Given the description of an element on the screen output the (x, y) to click on. 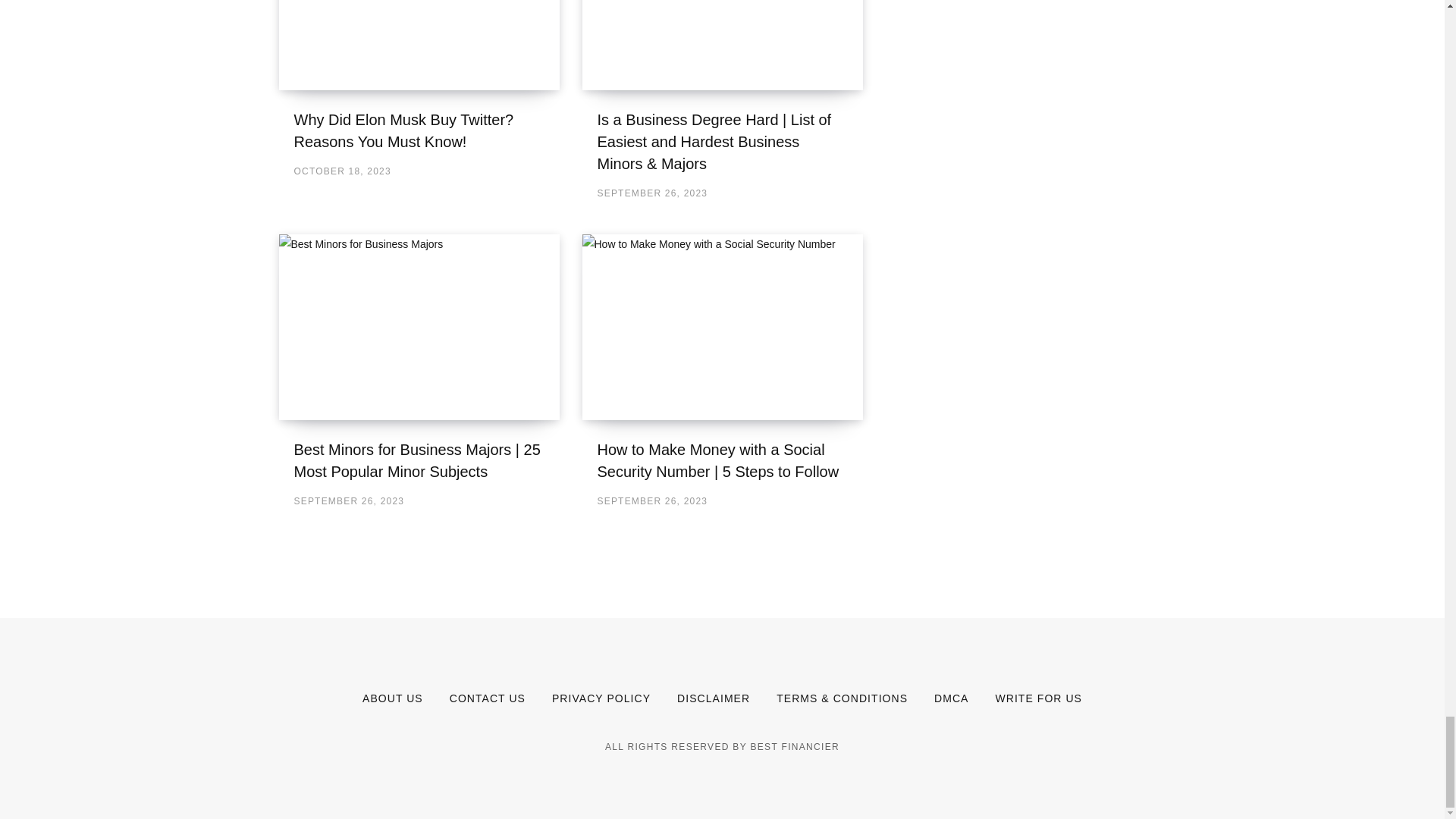
DISCLAIMER (713, 698)
DMCA (951, 698)
Why Did Elon Musk Buy Twitter? Reasons You Must Know! (419, 45)
Why Did Elon Musk Buy Twitter? Reasons You Must Know! (403, 130)
PRIVACY POLICY (600, 698)
ABOUT US (392, 698)
CONTACT US (487, 698)
WRITE FOR US (1037, 698)
